Given the description of an element on the screen output the (x, y) to click on. 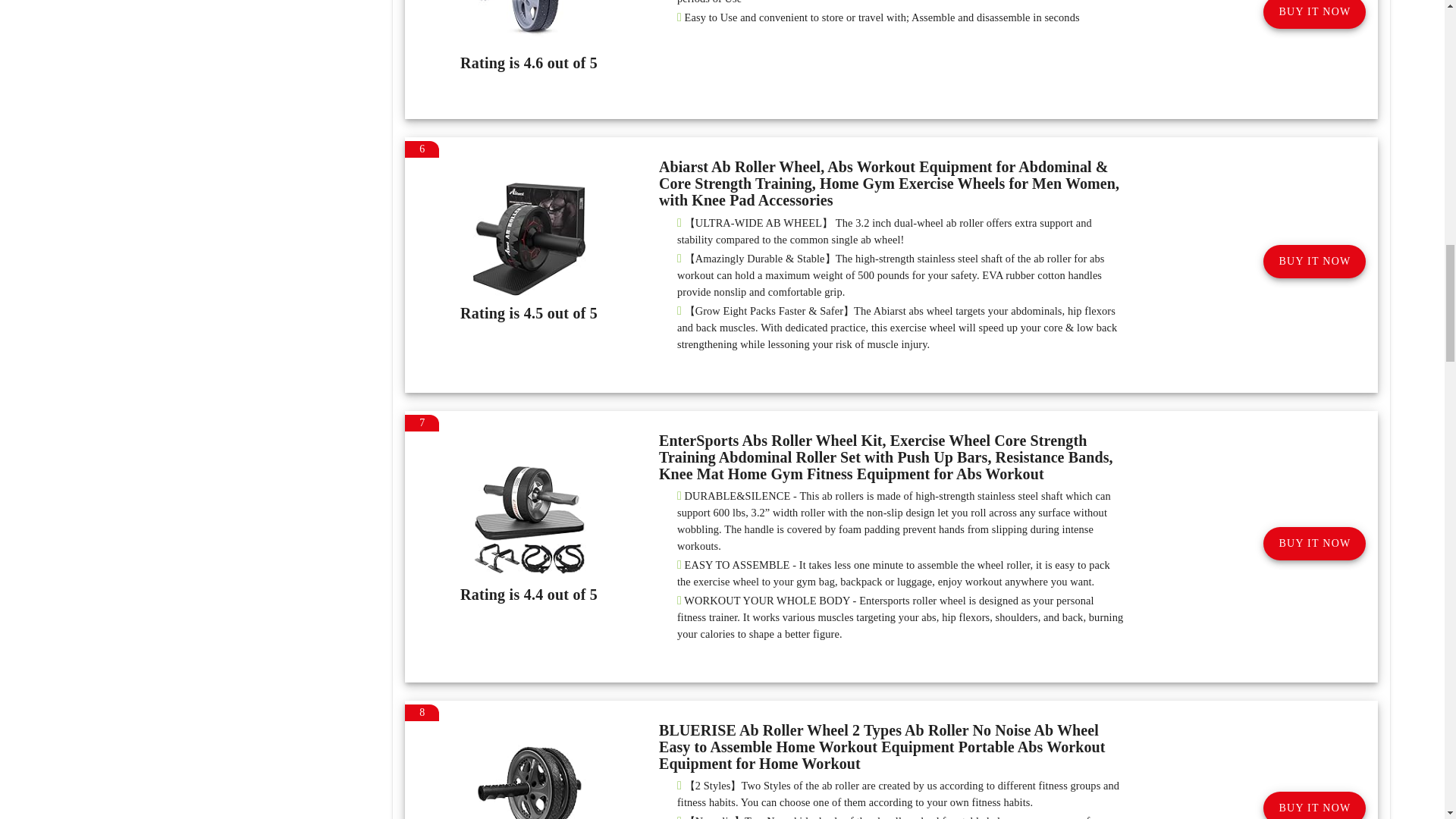
BUY IT NOW (1314, 805)
BUY IT NOW (1314, 261)
BUY IT NOW (1314, 543)
BUY IT NOW (1314, 14)
